Given the description of an element on the screen output the (x, y) to click on. 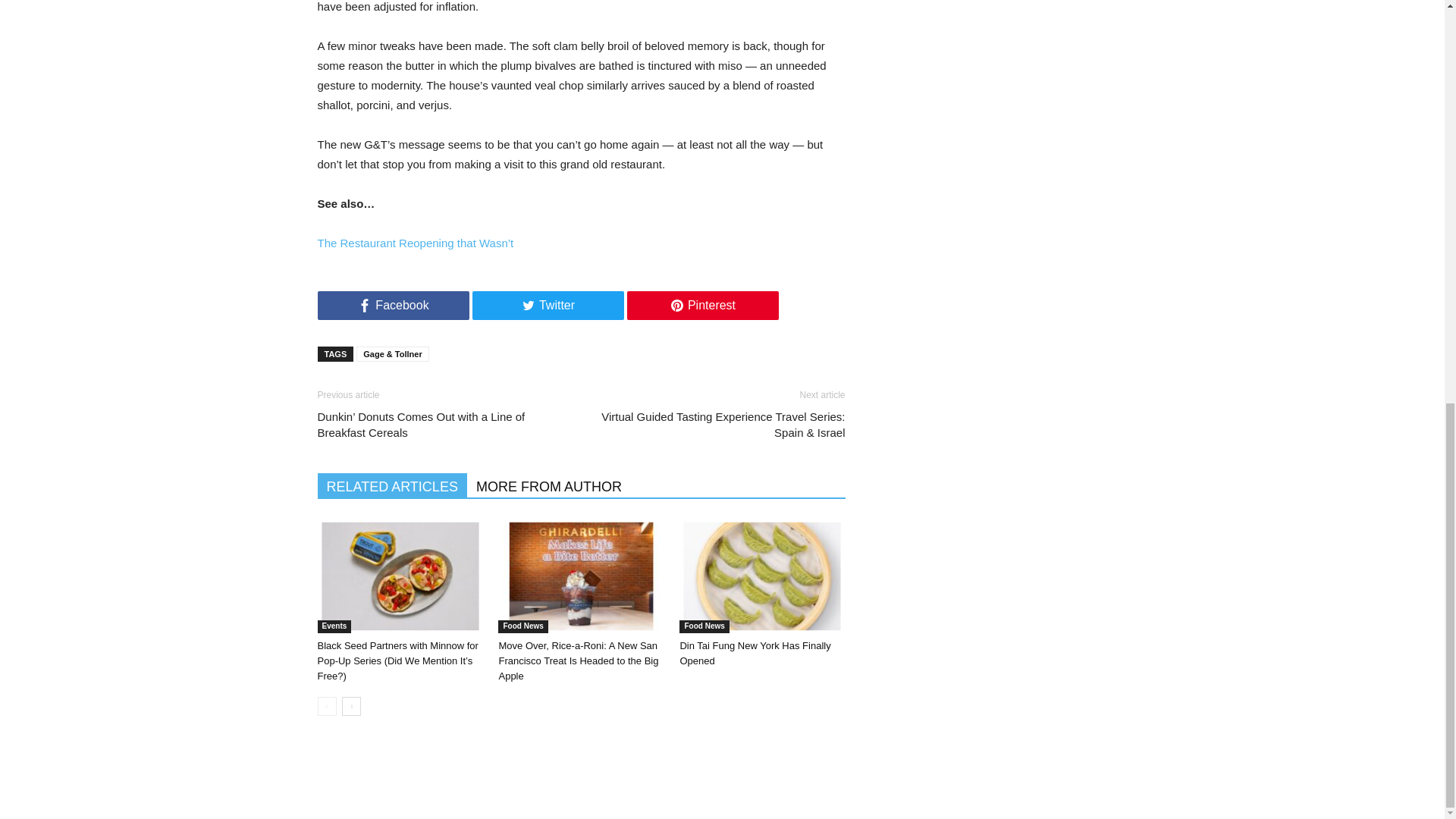
Facebook (392, 305)
Din Tai Fung New York Has Finally Opened (761, 576)
Din Tai Fung New York Has Finally Opened (754, 652)
Pinterest (701, 305)
Din Tai Fung New York Has Finally Opened (766, 579)
Twitter (547, 305)
